Given the description of an element on the screen output the (x, y) to click on. 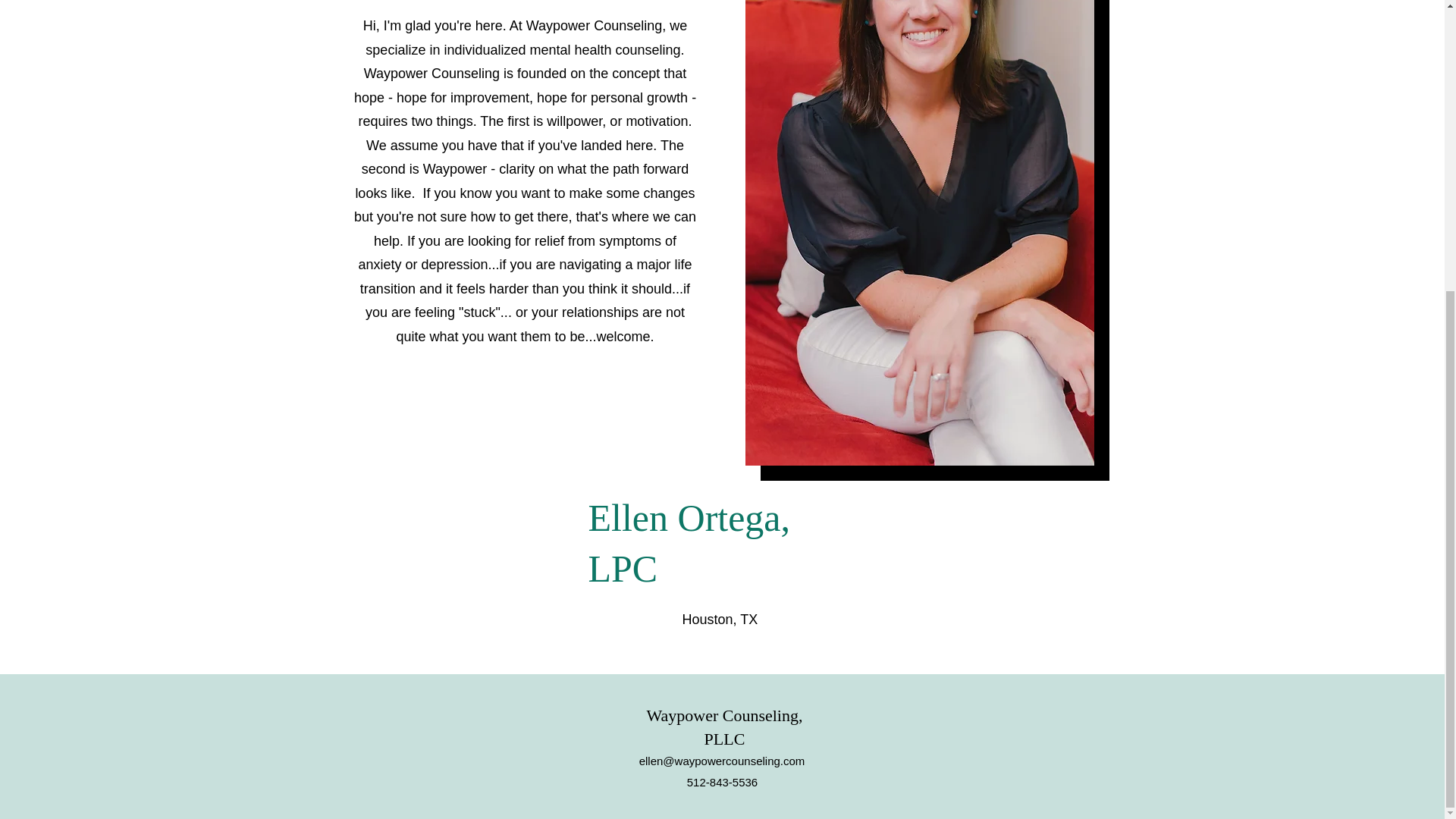
Waypower Counseling, PLLC (724, 726)
